Given the description of an element on the screen output the (x, y) to click on. 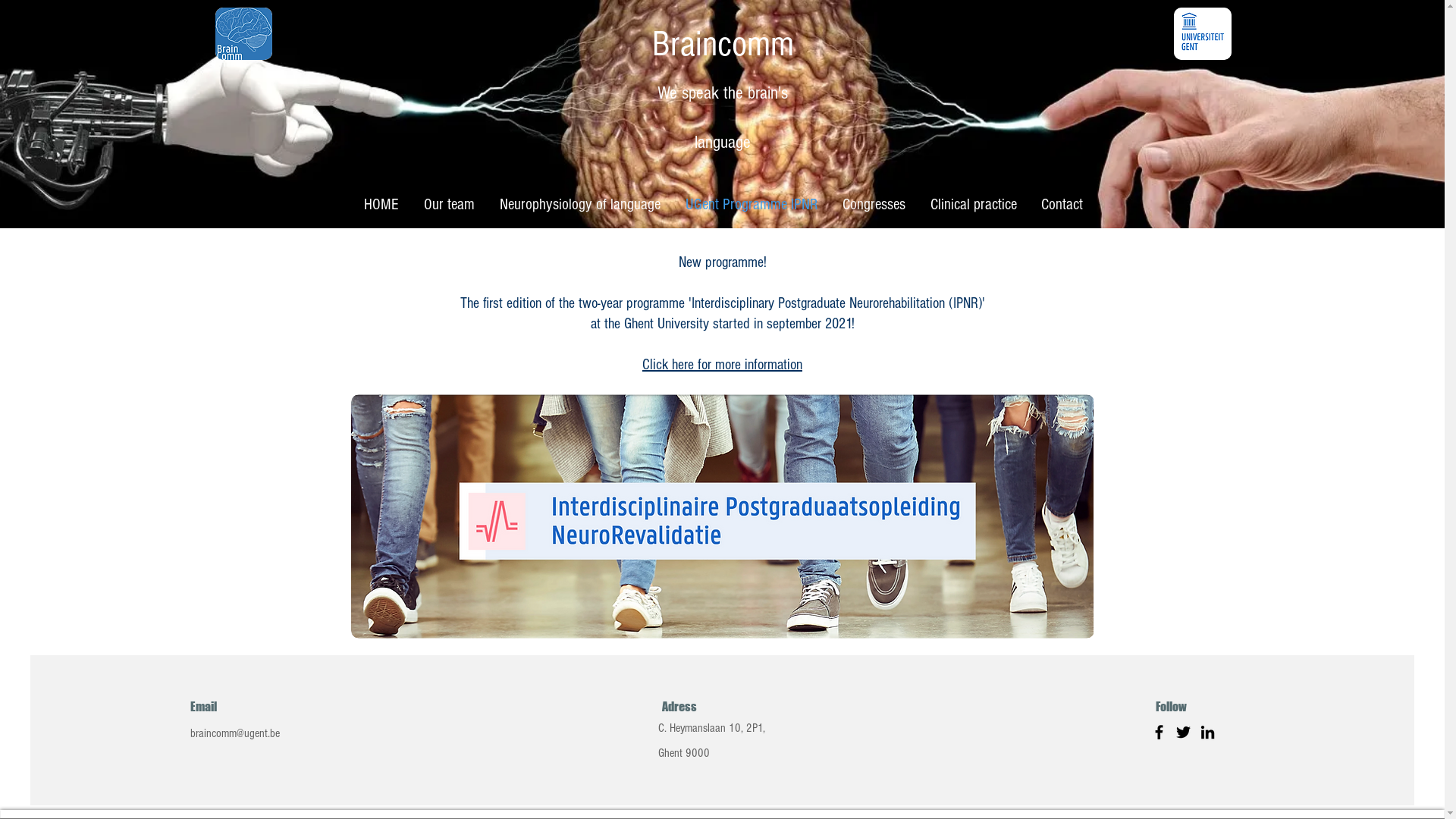
Congresses Element type: text (872, 204)
Neurophysiology of language Element type: text (578, 204)
C. Heymanslaan 10, 2P1, Element type: text (711, 727)
Ghent 9000 Element type: text (711, 765)
braincomm@ugent.be Element type: text (234, 733)
Contact Element type: text (1062, 204)
UGent Programme IPNR Element type: text (751, 204)
Click here for more information Element type: text (722, 363)
HOME Element type: text (381, 204)
Our team Element type: text (448, 204)
Clinical practice Element type: text (972, 204)
